Given the description of an element on the screen output the (x, y) to click on. 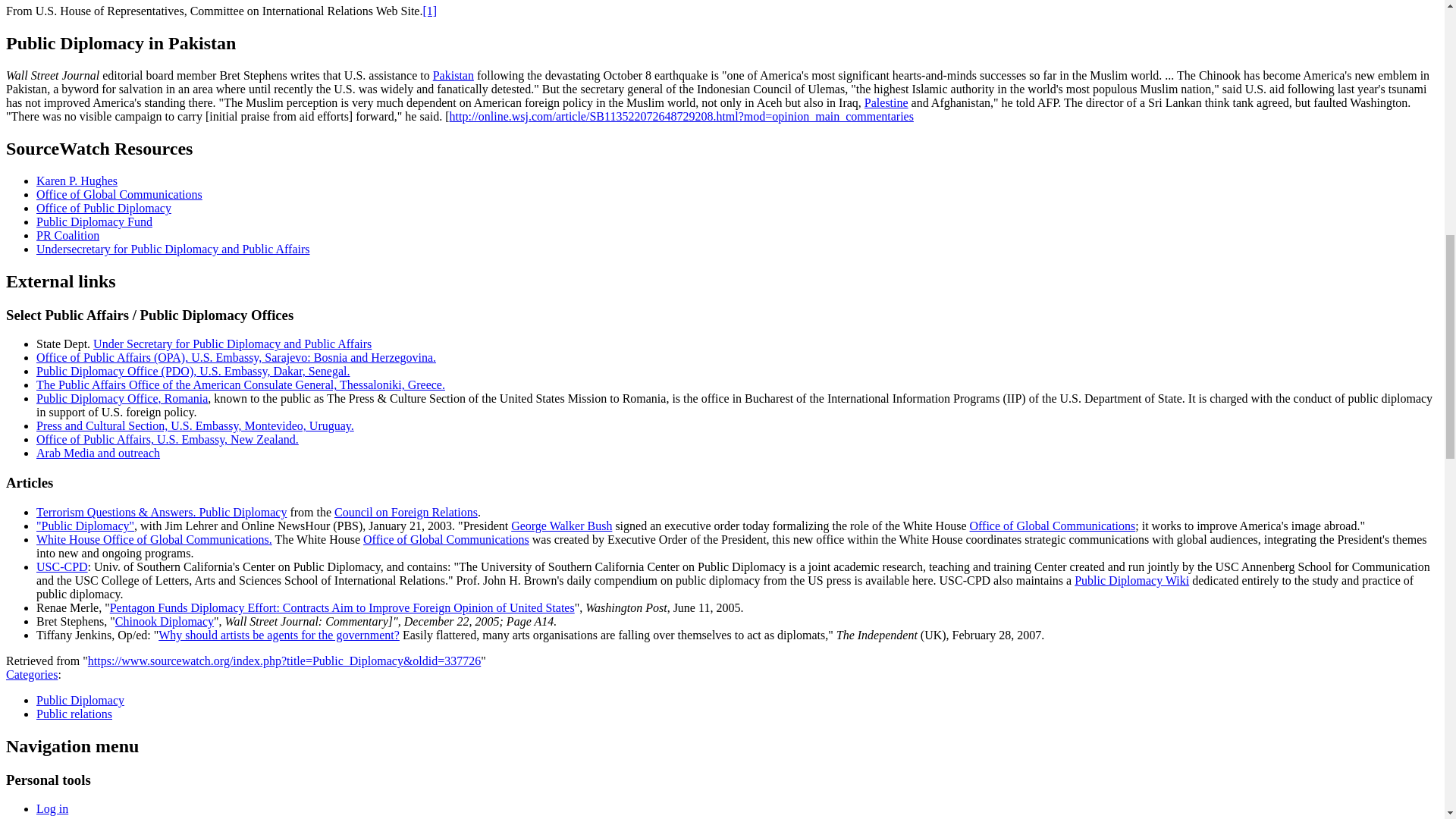
Office of Public Diplomacy (103, 207)
Undersecretary for Public Diplomacy and Public Affairs (173, 248)
Office of Public Diplomacy (103, 207)
Pakistan (453, 74)
Office of Global Communications (119, 194)
Office of Global Communications (119, 194)
Pakistan (453, 74)
Palestine (886, 102)
PR Coalition (67, 235)
Karen P. Hughes (76, 180)
Public Diplomacy Office, Romania (122, 398)
Karen P. Hughes (76, 180)
Public Diplomacy Fund (94, 221)
